Given the description of an element on the screen output the (x, y) to click on. 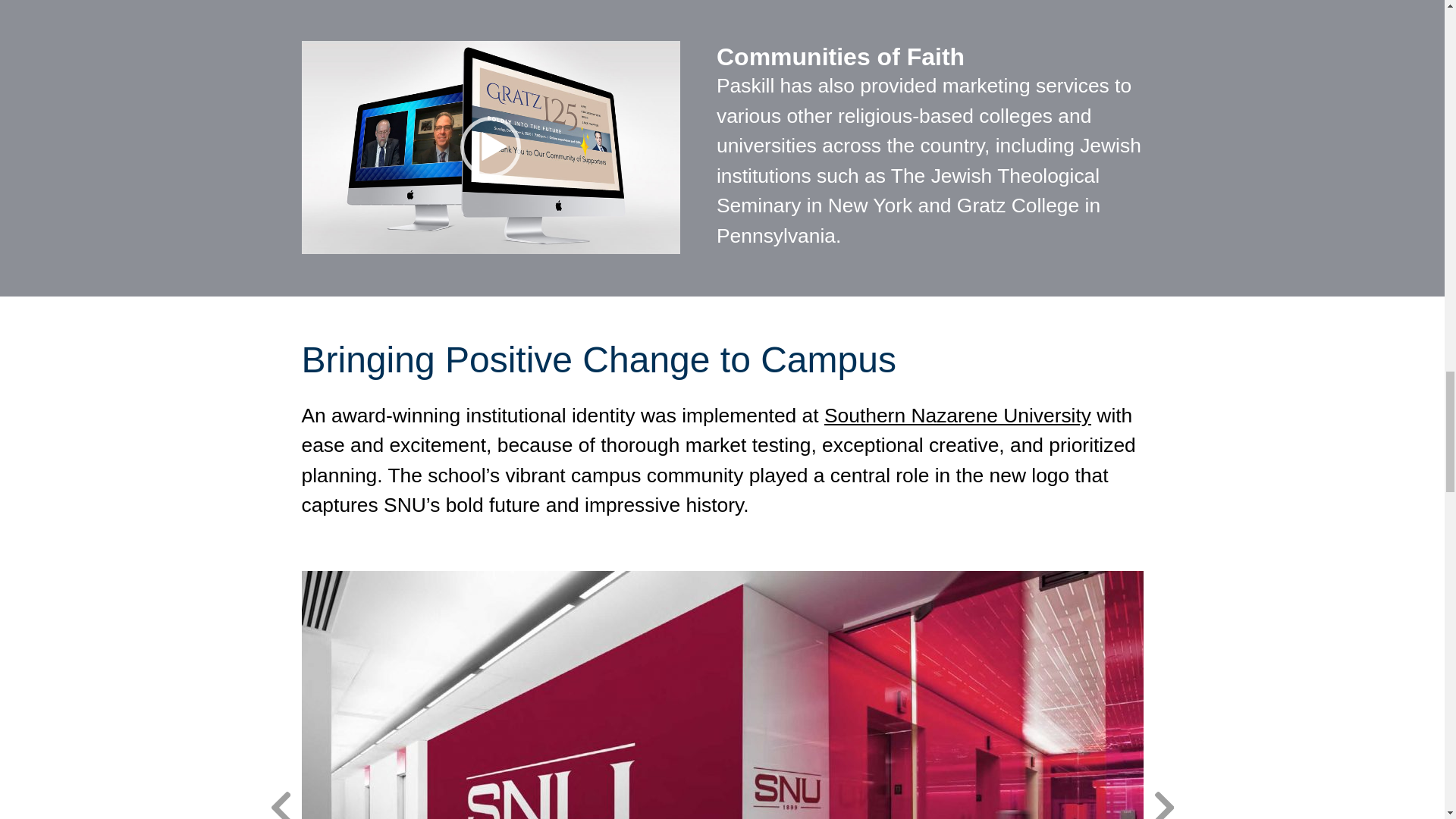
Southern Nazarene University (957, 415)
